Given the description of an element on the screen output the (x, y) to click on. 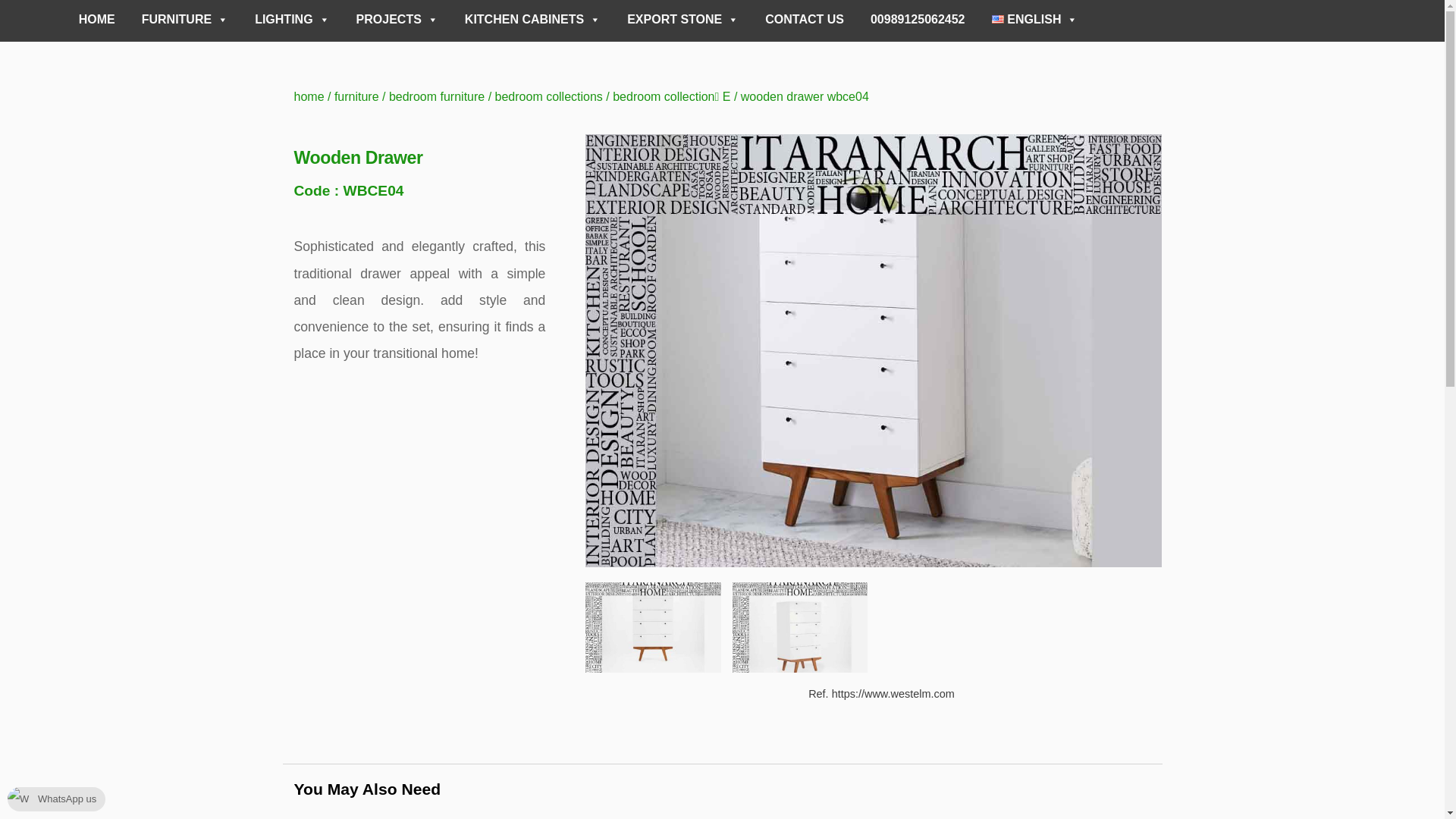
Search (1350, 18)
FURNITURE (184, 19)
Drawer-WBCE04-3 (799, 627)
Drawer-WBCE04-4 (652, 627)
HOME (96, 19)
